Given the description of an element on the screen output the (x, y) to click on. 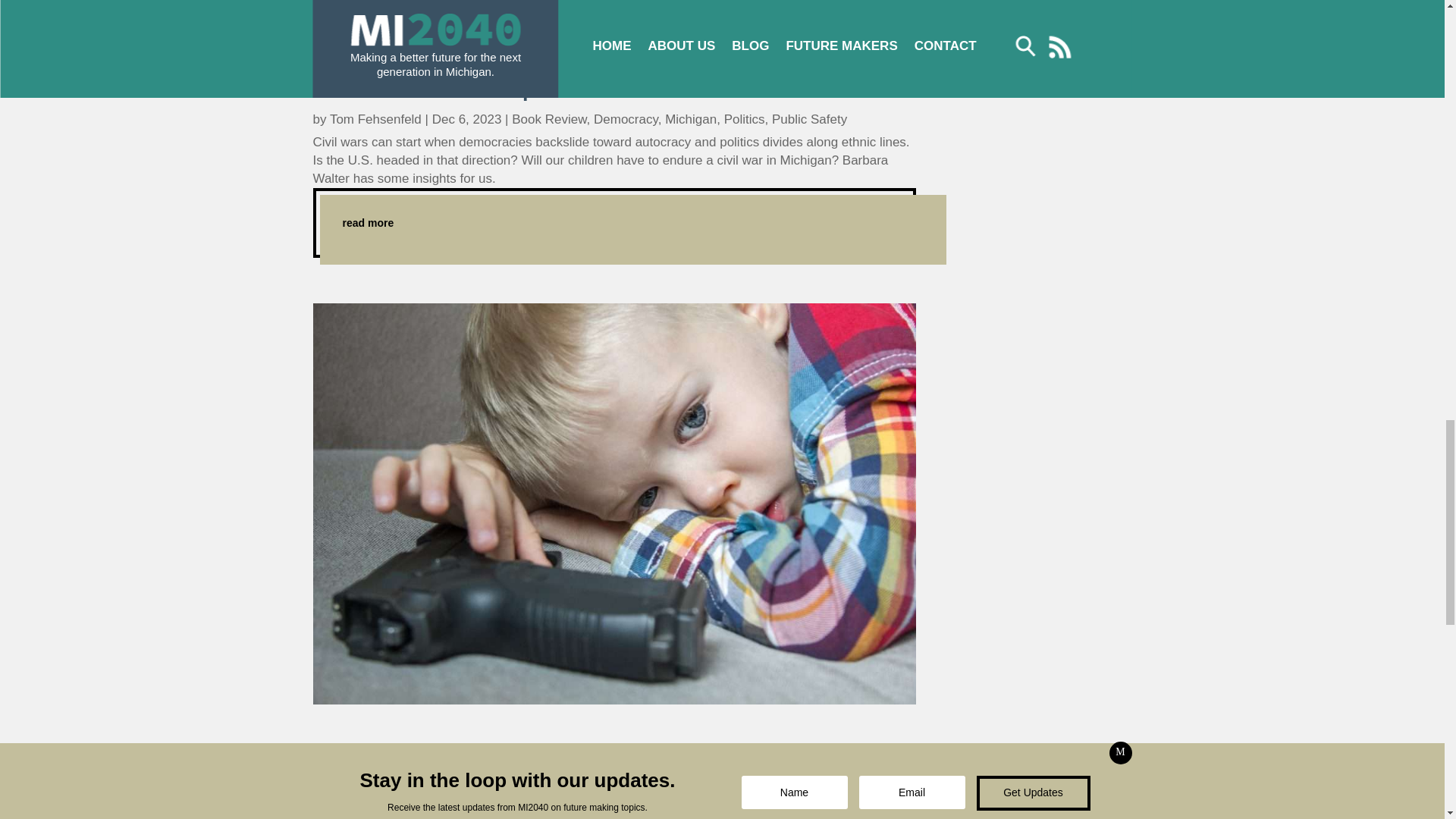
Michigan (541, 782)
Politics (744, 119)
Tom Fehsenfeld (376, 119)
Public Safety (809, 119)
read more (614, 222)
Hope to Stem Gun Violence For The Next Generation (569, 752)
Michigan (690, 119)
Tom Fehsenfeld (376, 782)
Public Safety (612, 782)
Book Review (549, 119)
Democracy (626, 119)
Posts by Tom Fehsenfeld (376, 119)
Posts by Tom Fehsenfeld (376, 782)
